Given the description of an element on the screen output the (x, y) to click on. 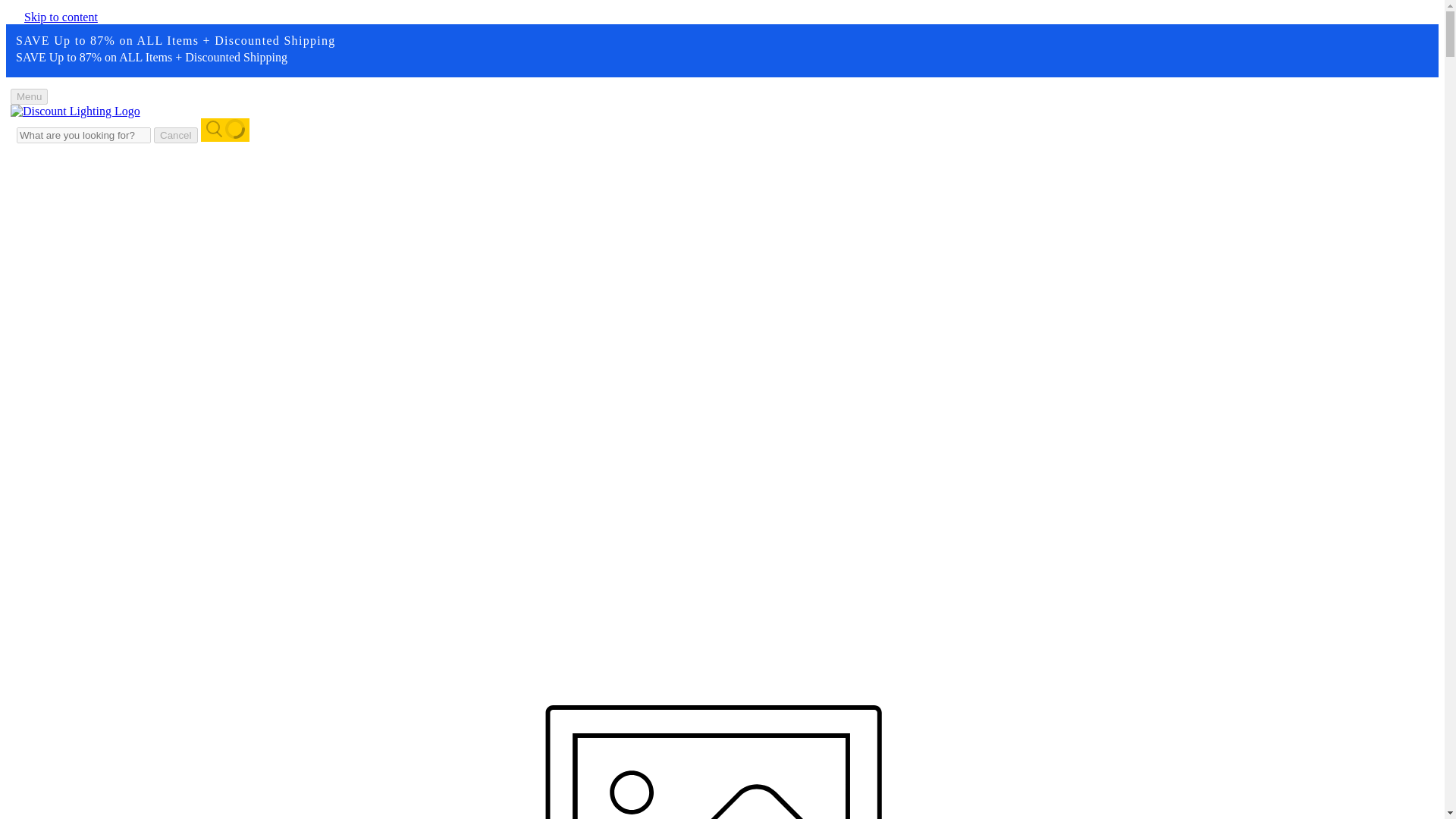
Menu (29, 96)
Cancel (176, 135)
Skip to content (60, 16)
